Given the description of an element on the screen output the (x, y) to click on. 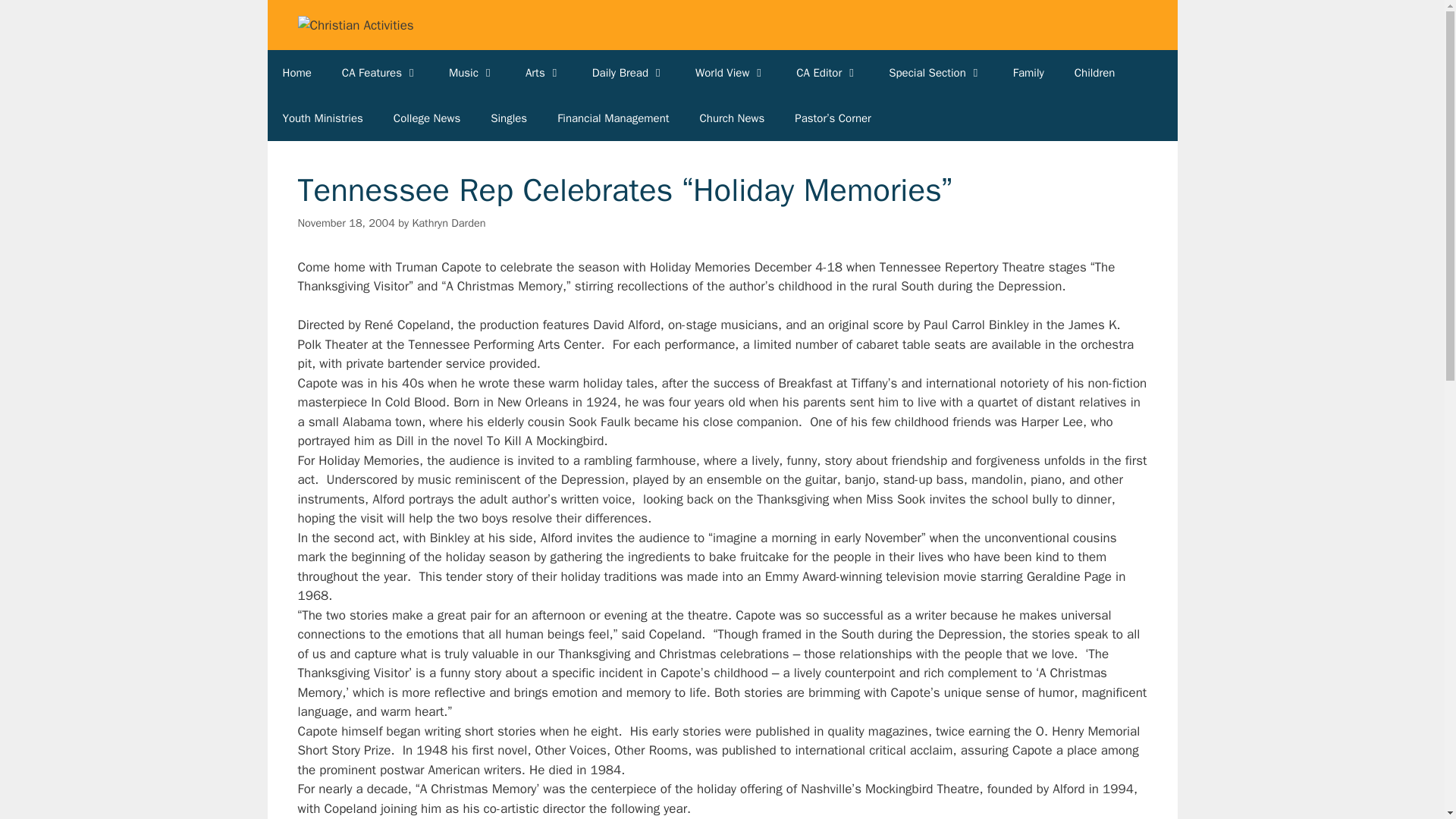
Singles (508, 117)
Arts (543, 72)
View all posts by Kathryn Darden (448, 223)
Family (1028, 72)
Music (472, 72)
CA Features (379, 72)
Special Section (935, 72)
Daily Bread (627, 72)
CA Editor (826, 72)
Home (296, 72)
